Given the description of an element on the screen output the (x, y) to click on. 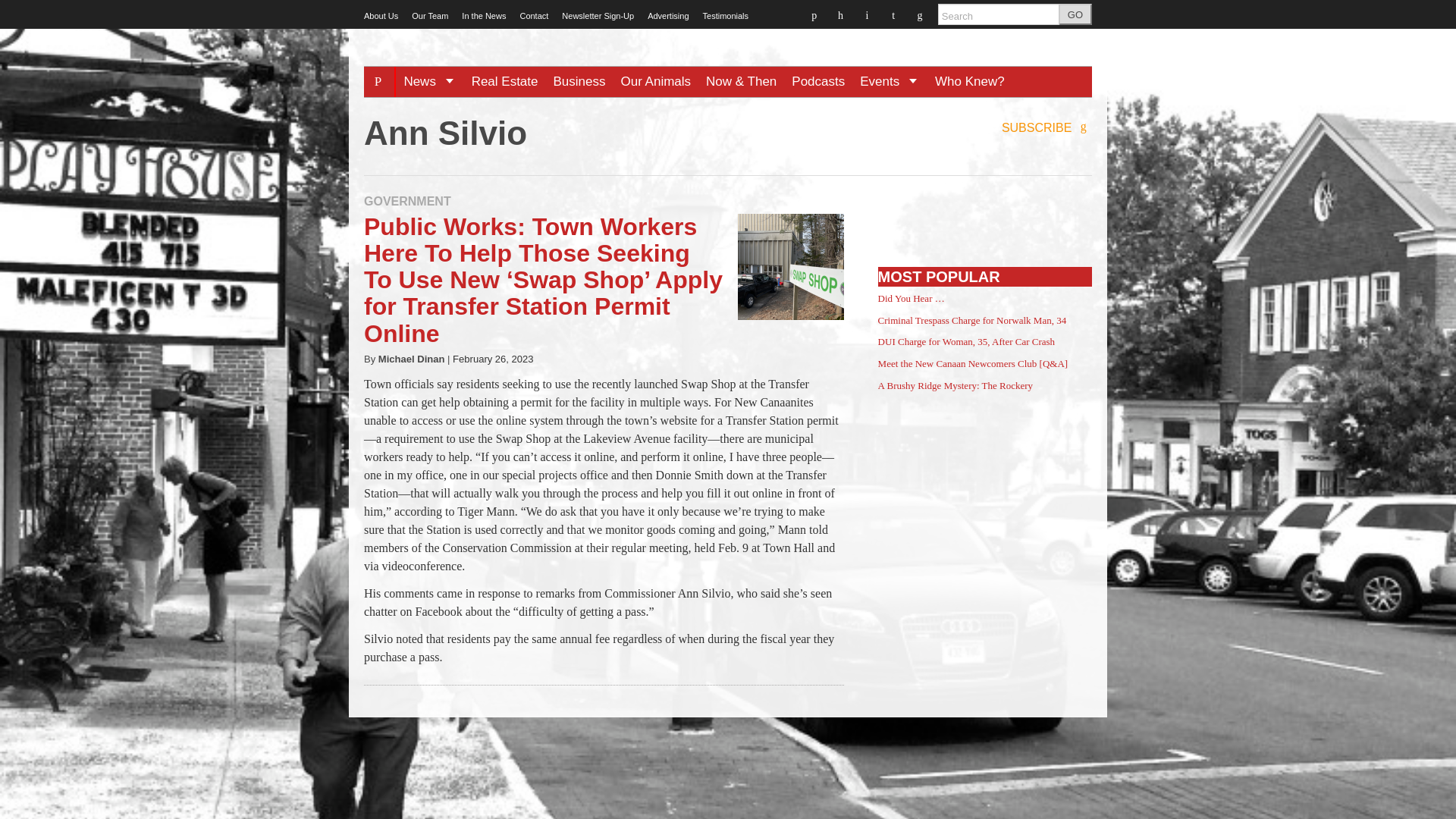
About Us (380, 15)
In the News (483, 15)
GO (1075, 14)
Contact (533, 15)
Our Team (430, 15)
Advertising (667, 15)
Testimonials (726, 15)
Newsletter Sign-Up (597, 15)
Read Articles in the Government category (407, 201)
